Given the description of an element on the screen output the (x, y) to click on. 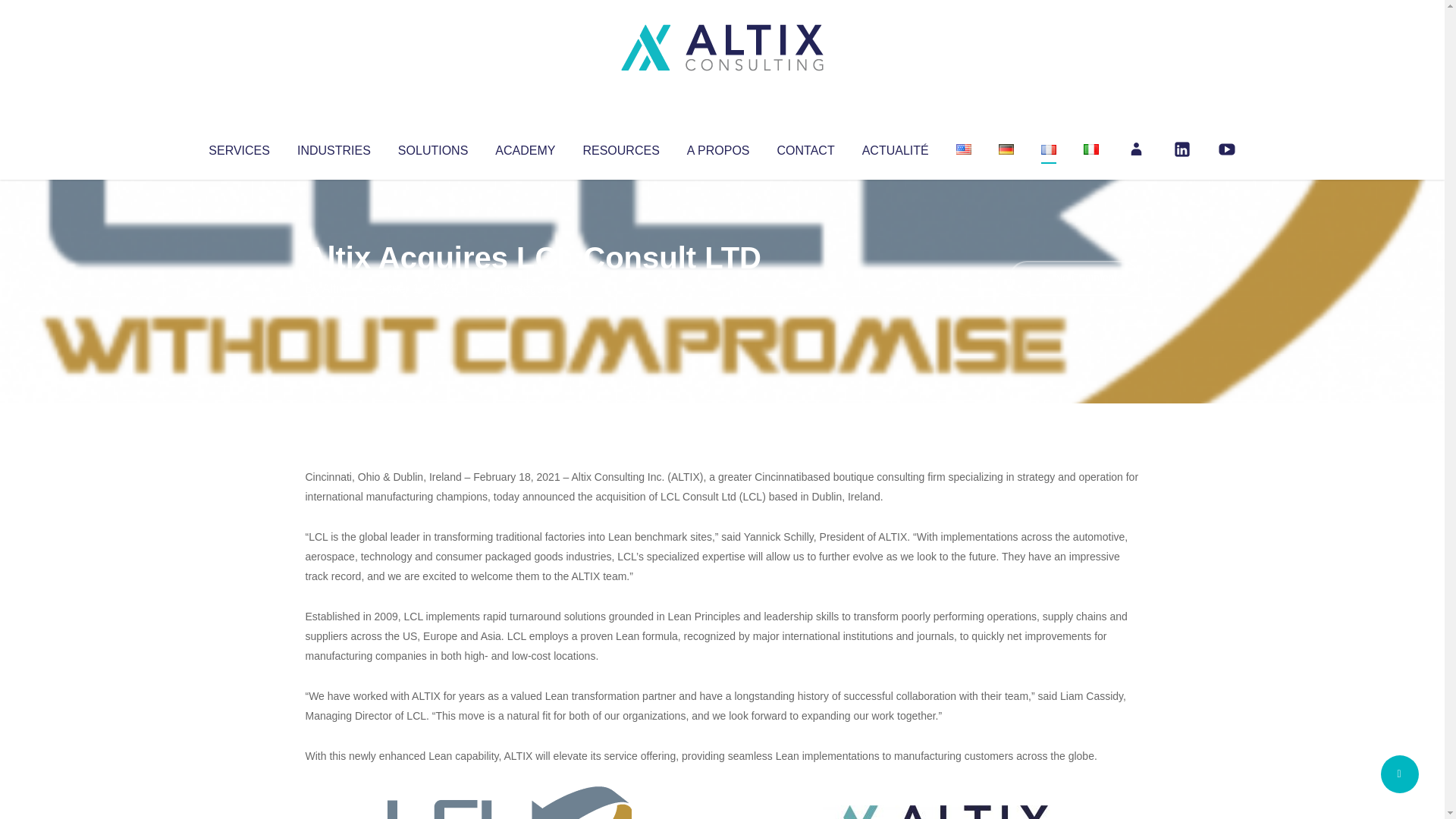
Uncategorized (530, 287)
RESOURCES (620, 146)
INDUSTRIES (334, 146)
No Comments (1073, 278)
Articles par Altix (333, 287)
Altix (333, 287)
SERVICES (238, 146)
A PROPOS (718, 146)
SOLUTIONS (432, 146)
ACADEMY (524, 146)
